Given the description of an element on the screen output the (x, y) to click on. 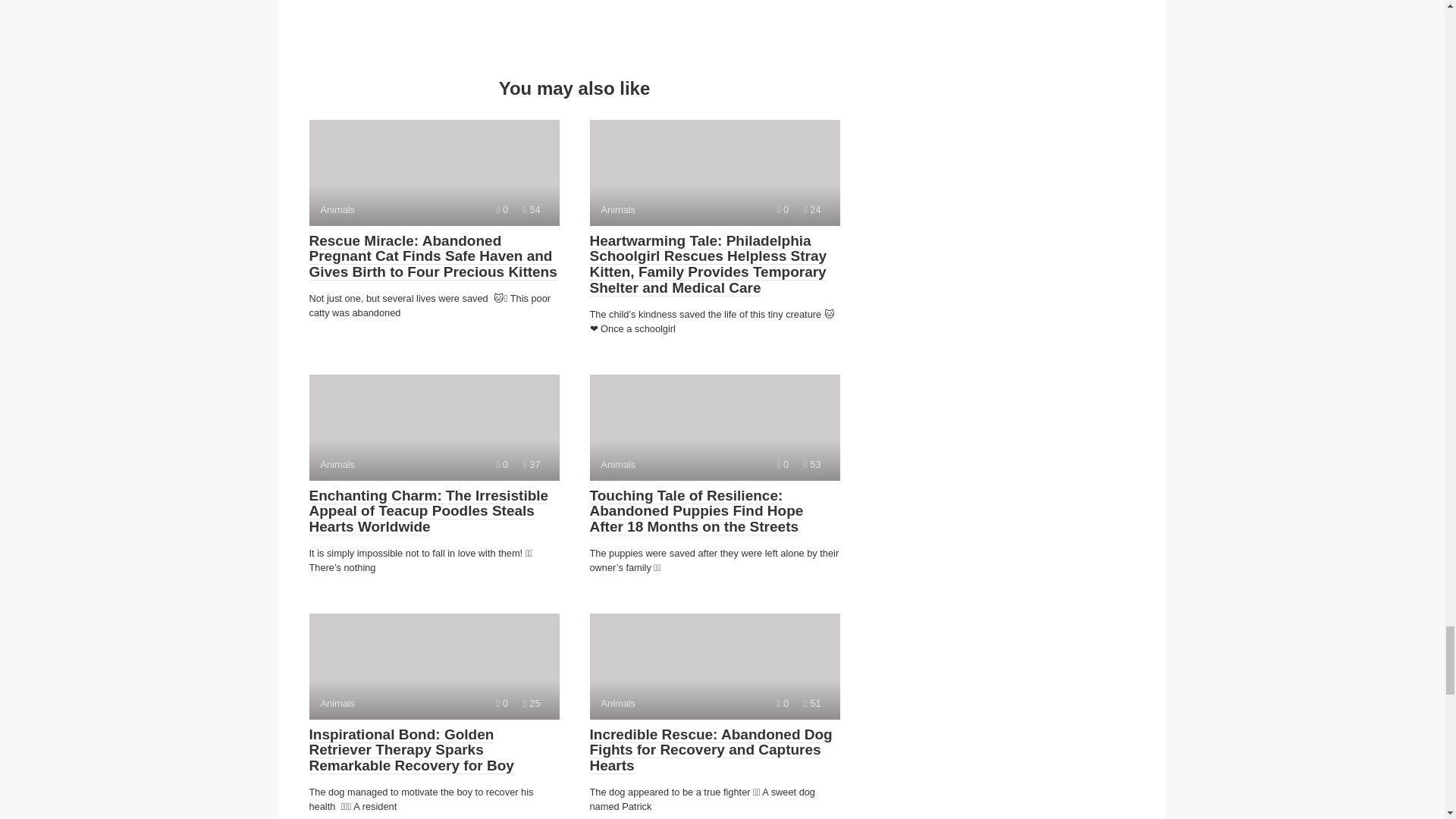
Comments (714, 666)
Views (502, 209)
Views (531, 703)
Views (531, 209)
Views (812, 464)
Views (812, 703)
